Given the description of an element on the screen output the (x, y) to click on. 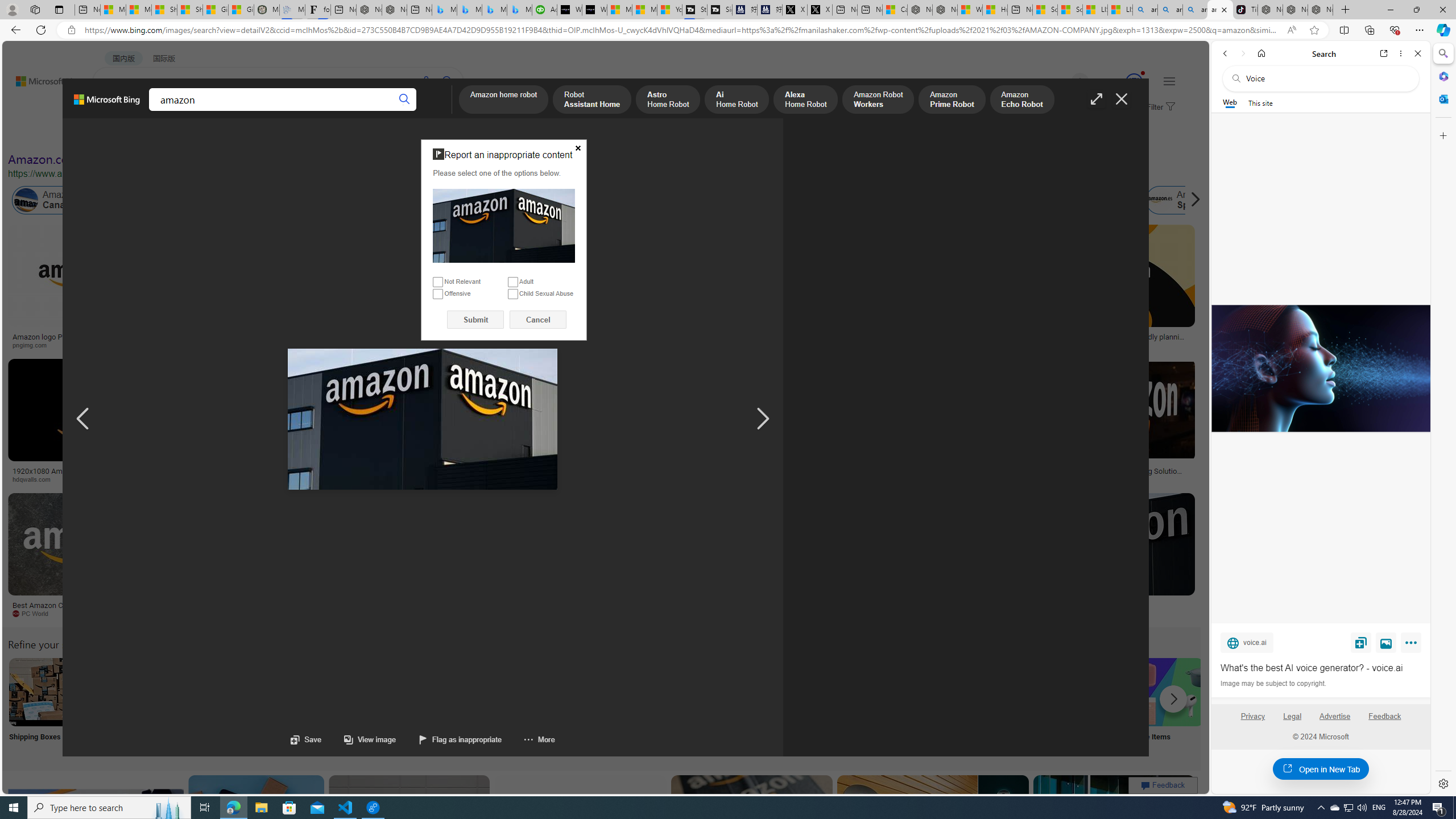
Amazon Cloud (320, 200)
Sign My Account (718, 706)
Ai Home Robot (737, 100)
downdetector.ae (869, 344)
Full screen (1096, 99)
Cancel (537, 319)
Shipping Boxes (42, 706)
Amazon Cloud (344, 199)
Image size (126, 135)
WEB (114, 111)
mobilemarketingmagazine.com (1054, 479)
